Given the description of an element on the screen output the (x, y) to click on. 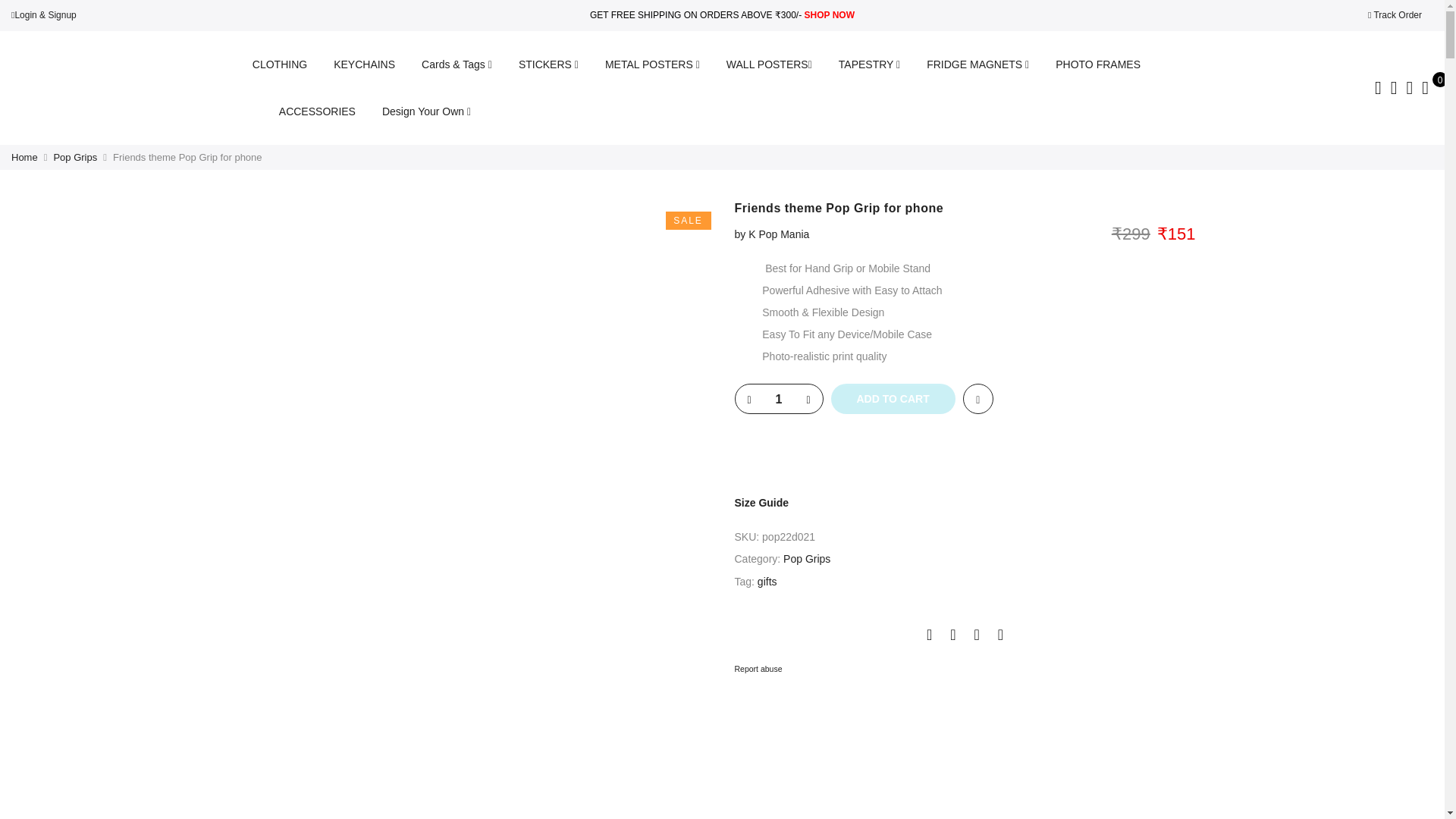
KEYCHAINS (363, 64)
Qty (778, 399)
ACCESSORIES (317, 111)
PHOTO FRAMES (1097, 64)
SHOP NOW (828, 14)
CLOTHING (279, 64)
1 (778, 399)
